Given the description of an element on the screen output the (x, y) to click on. 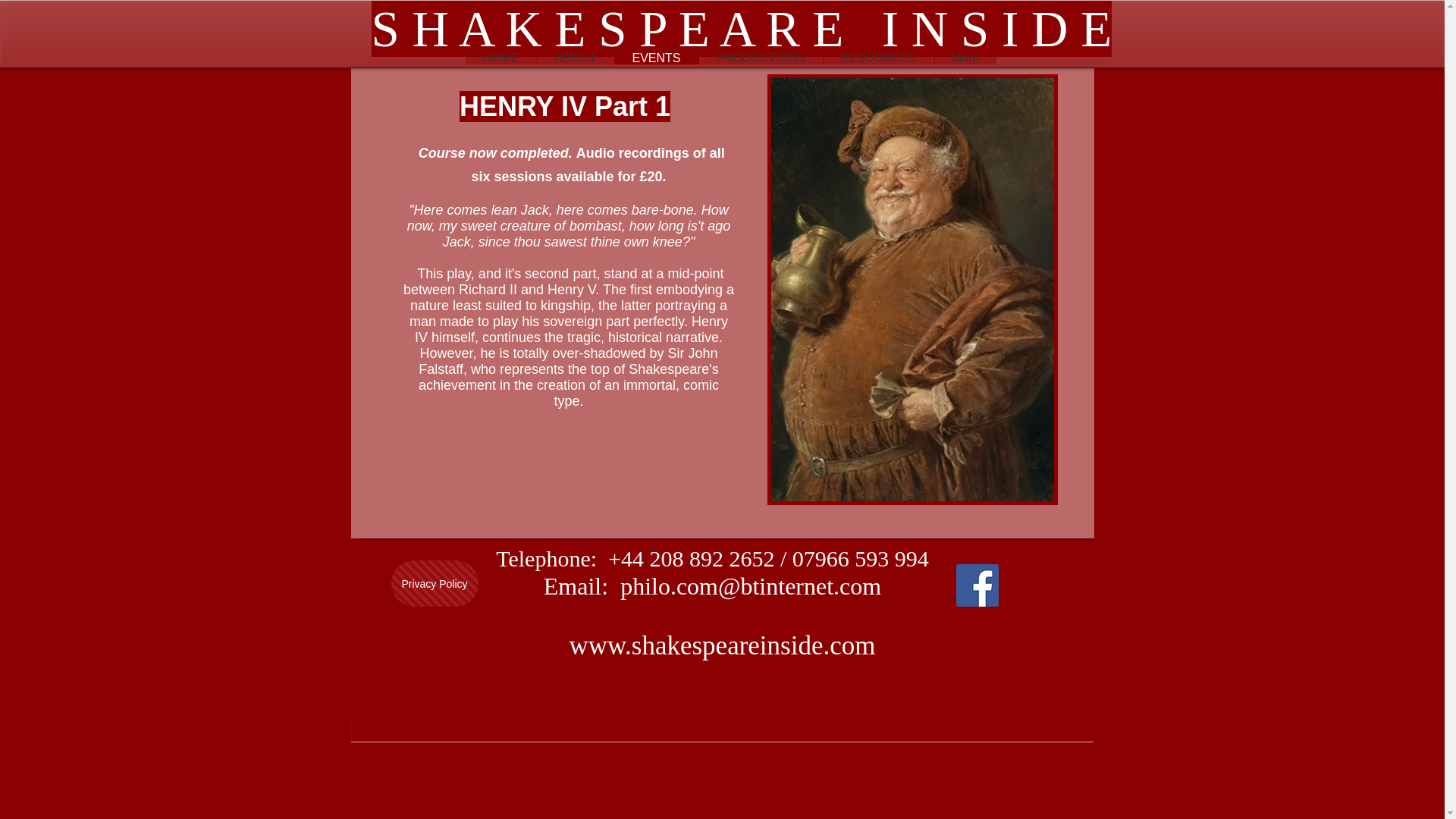
EVENTS (656, 58)
RESOURCES (877, 58)
www.shakespeareinside.com (722, 645)
Privacy Policy (435, 583)
PRODUCTIONS (759, 58)
HOME (501, 58)
ABOUT (575, 58)
